Given the description of an element on the screen output the (x, y) to click on. 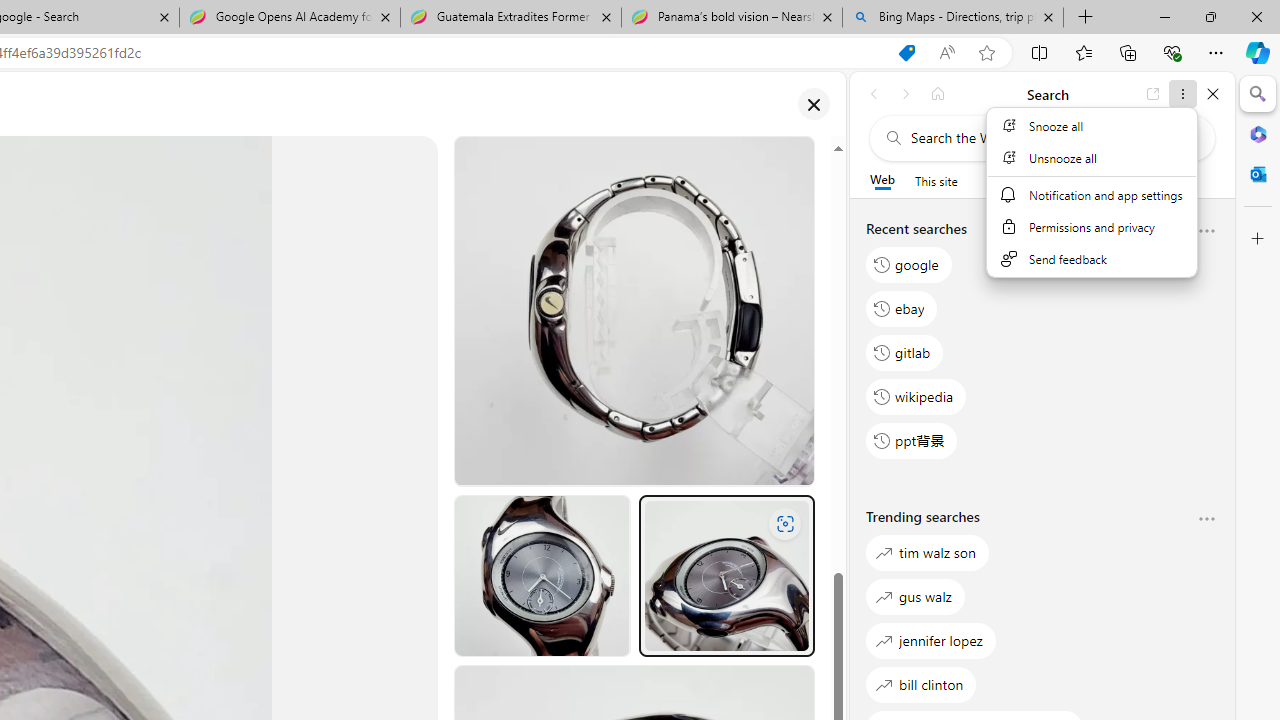
wikipedia (916, 396)
This site scope (936, 180)
Forward (906, 93)
gitlab (905, 352)
Snooze all (1091, 125)
jennifer lopez (930, 640)
Google Opens AI Academy for Startups - Nearshore Americas (290, 17)
